Given the description of an element on the screen output the (x, y) to click on. 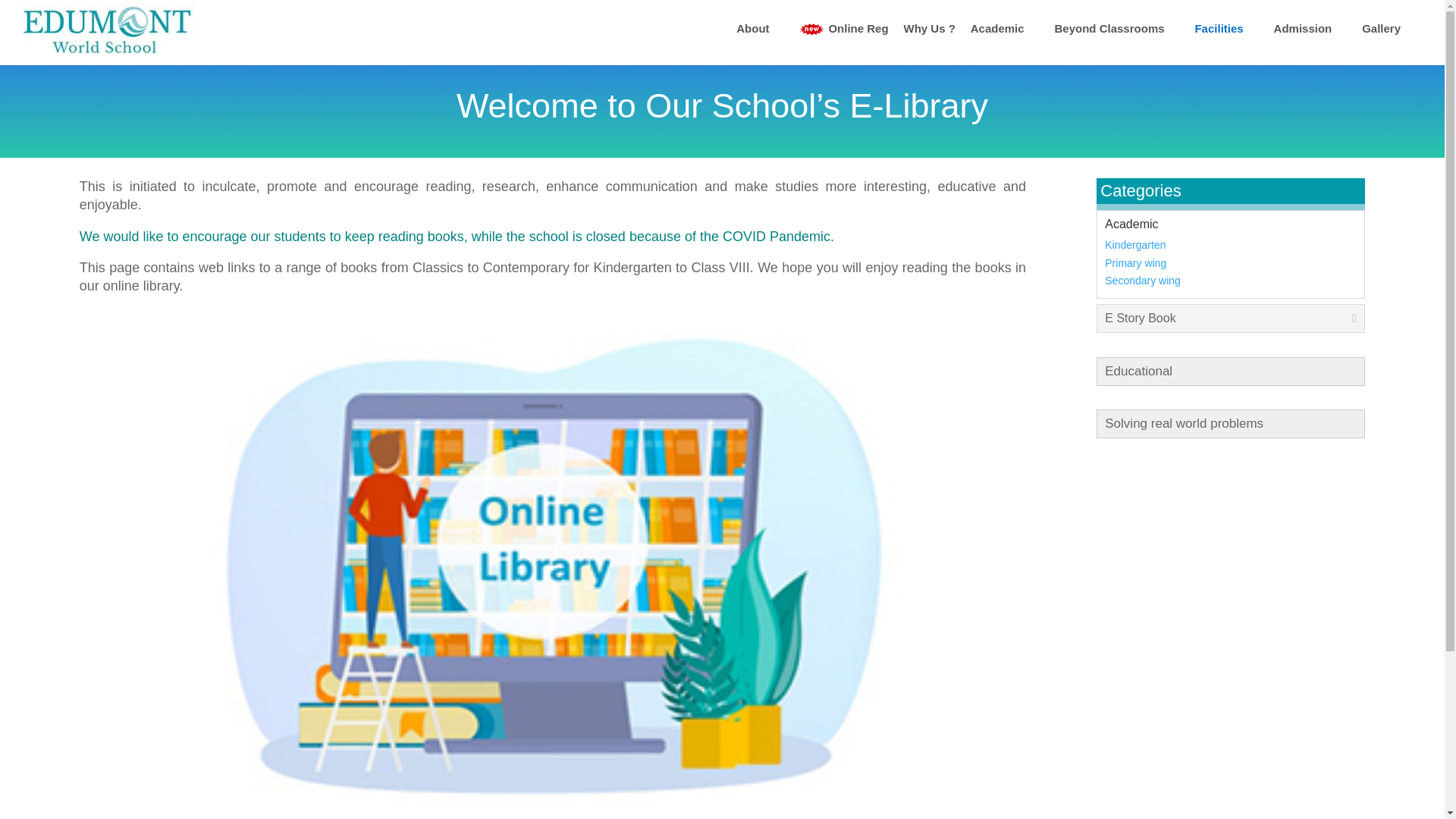
Beyond Classrooms (1116, 28)
Academic (1005, 28)
Facilities (1225, 28)
Admission (1311, 28)
Online Reg (843, 29)
Gallery (1388, 28)
Why Us ? (929, 28)
About (760, 28)
